Given the description of an element on the screen output the (x, y) to click on. 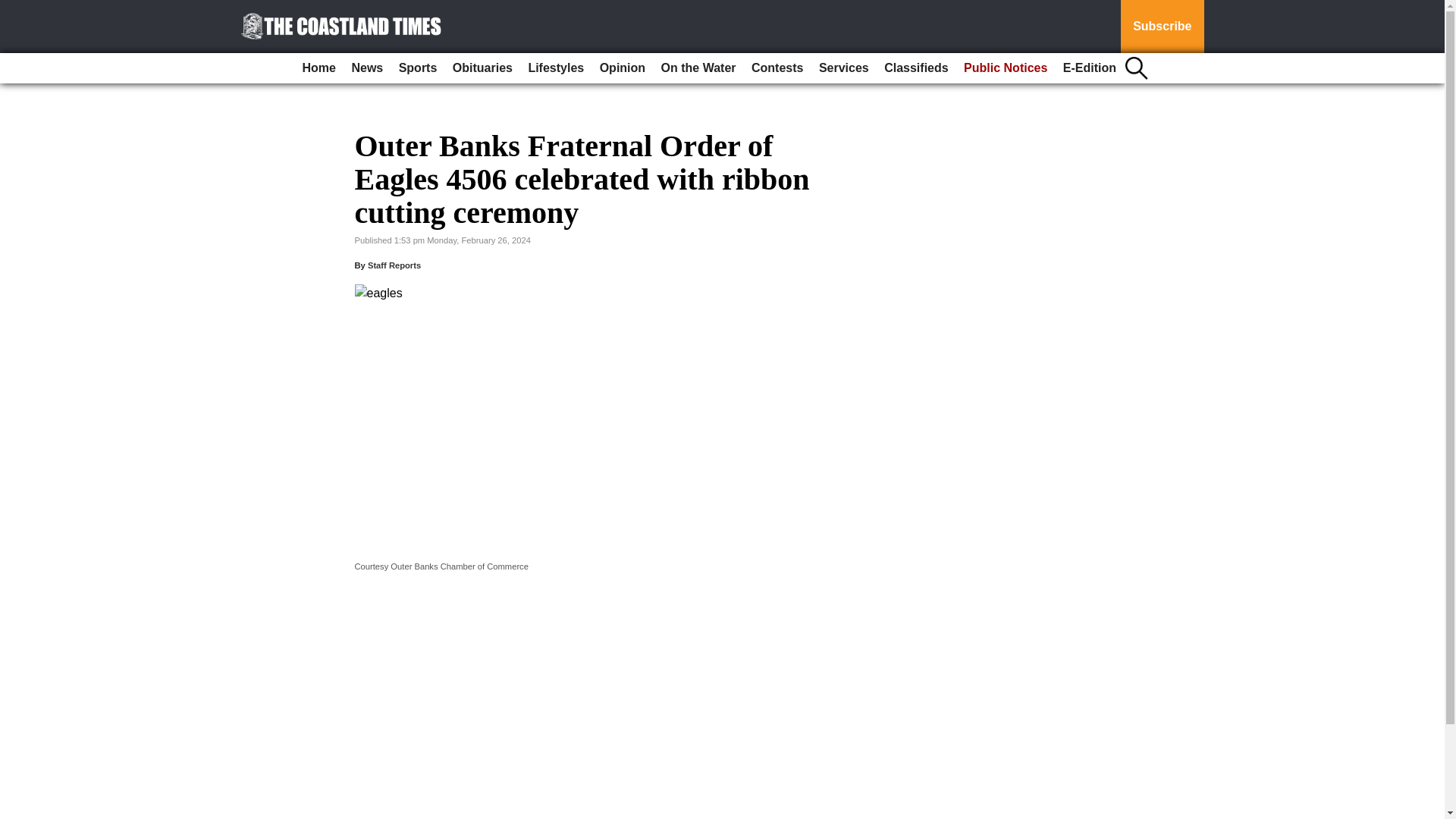
Go (13, 9)
Opinion (622, 68)
News (366, 68)
Public Notices (1005, 68)
Contests (777, 68)
Home (319, 68)
Obituaries (482, 68)
Lifestyles (555, 68)
Classifieds (915, 68)
Services (843, 68)
